Given the description of an element on the screen output the (x, y) to click on. 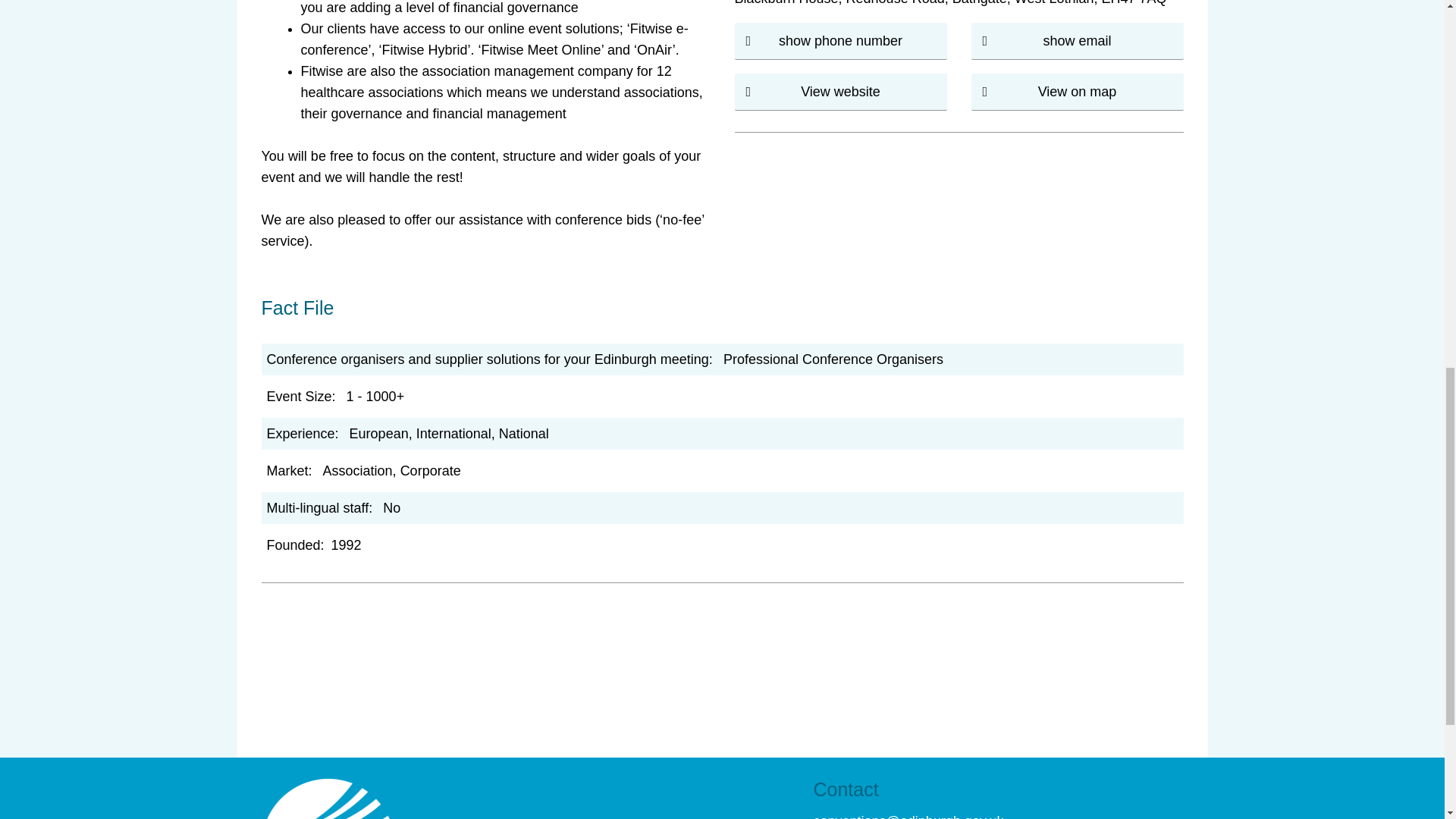
show phone number (840, 40)
Professional Conference Organisers (833, 359)
View on map (1077, 91)
View website (840, 91)
show email (1076, 40)
